Given the description of an element on the screen output the (x, y) to click on. 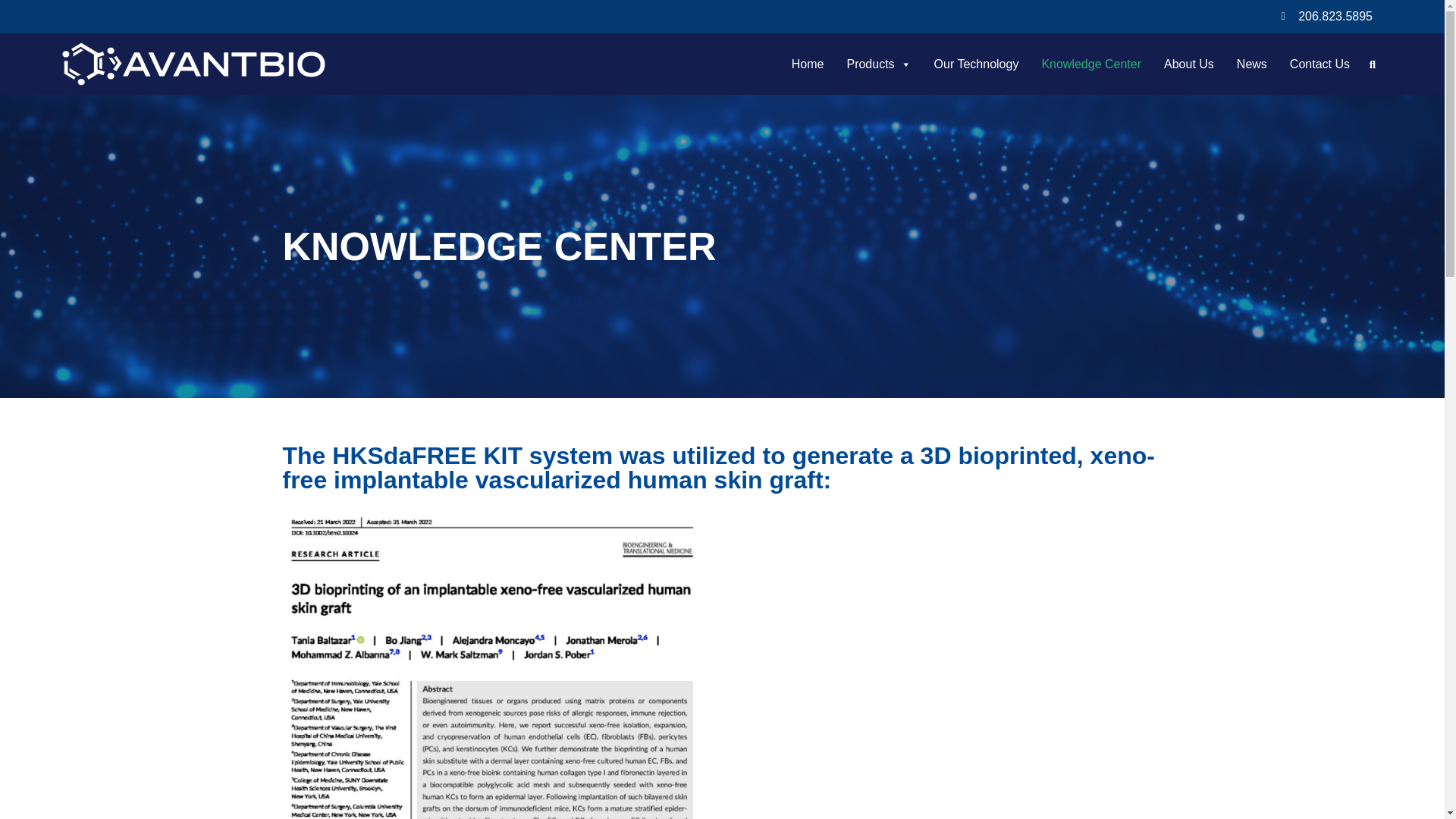
Home (807, 63)
News (1251, 63)
206.823.5895 (1327, 16)
About Us (1189, 63)
Products (877, 63)
Knowledge Center (1091, 63)
Contact Us (1319, 63)
Our Technology (976, 63)
